Given the description of an element on the screen output the (x, y) to click on. 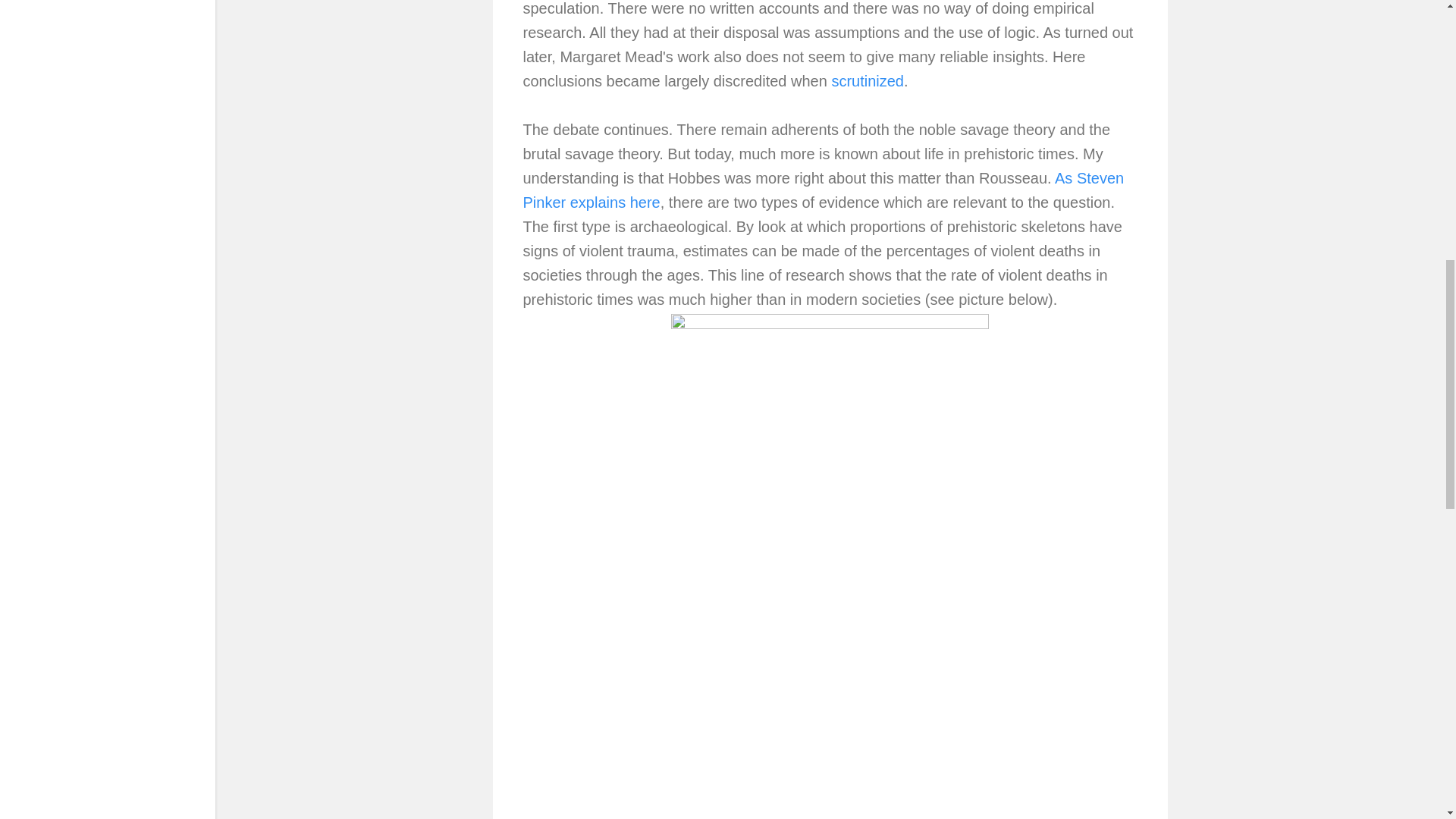
scrutinized (867, 80)
As Steven Pinker explains here (823, 189)
